Given the description of an element on the screen output the (x, y) to click on. 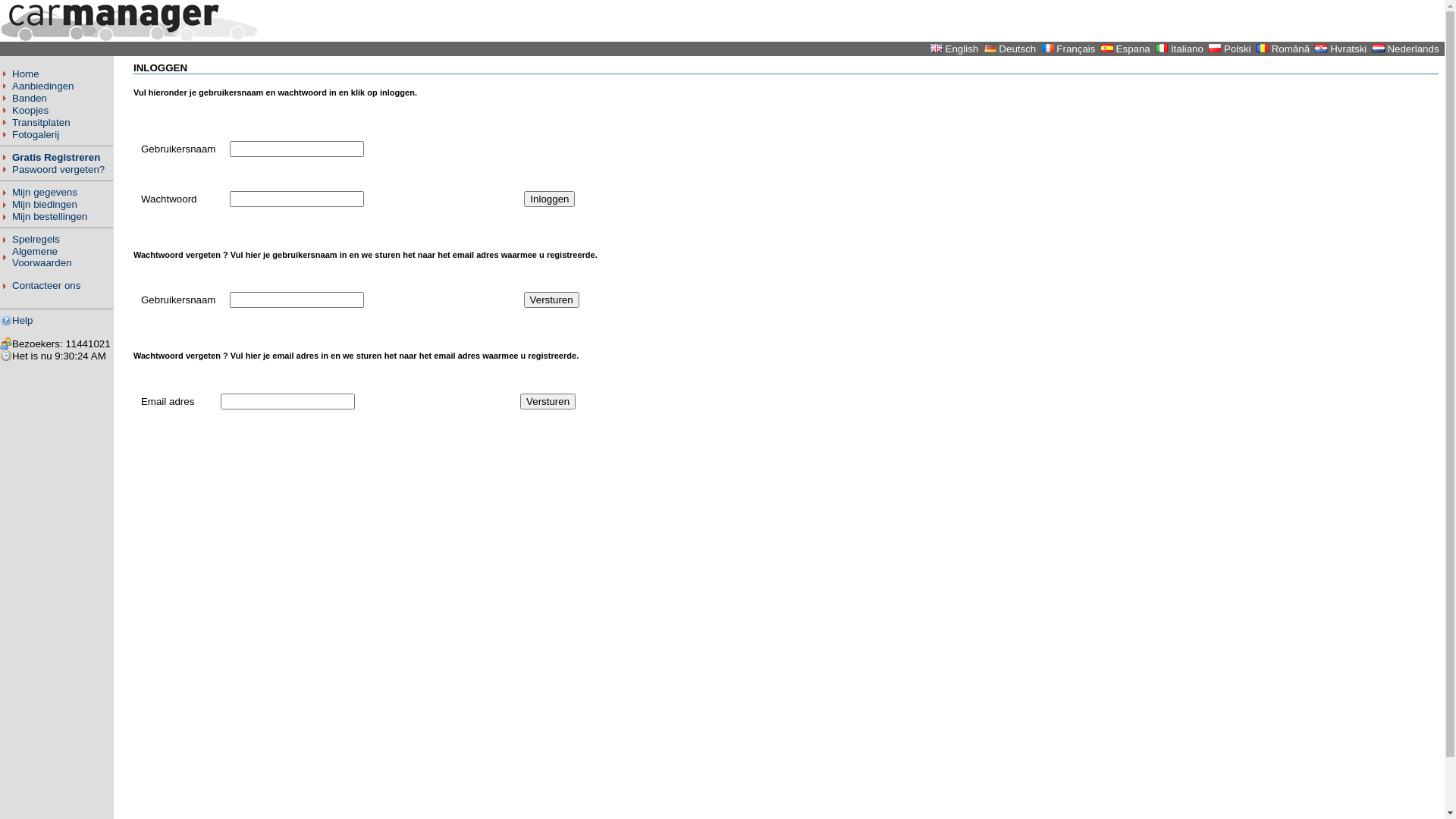
Versturen Element type: text (551, 299)
Nederlands Element type: text (1412, 48)
Espana Element type: text (1133, 48)
Spelregels Element type: text (35, 238)
Italiano Element type: text (1186, 48)
English Element type: text (962, 48)
Transitplaten Element type: text (41, 122)
Home Element type: text (25, 73)
Aanbiedingen Element type: text (43, 85)
Fotogalerij Element type: text (35, 134)
Contacteer ons Element type: text (46, 285)
Paswoord vergeten? Element type: text (58, 169)
Koopjes Element type: text (30, 110)
Inloggen Element type: text (549, 199)
Deutsch Element type: text (1016, 48)
Mijn gegevens Element type: text (44, 191)
Banden Element type: text (29, 97)
Gratis Registreren Element type: text (56, 157)
Mijn biedingen Element type: text (44, 204)
Mijn bestellingen Element type: text (49, 216)
Hvratski Element type: text (1348, 48)
Help Element type: text (22, 320)
Algemene Voorwaarden Element type: text (42, 256)
Polski Element type: text (1237, 48)
Versturen Element type: text (547, 401)
